Given the description of an element on the screen output the (x, y) to click on. 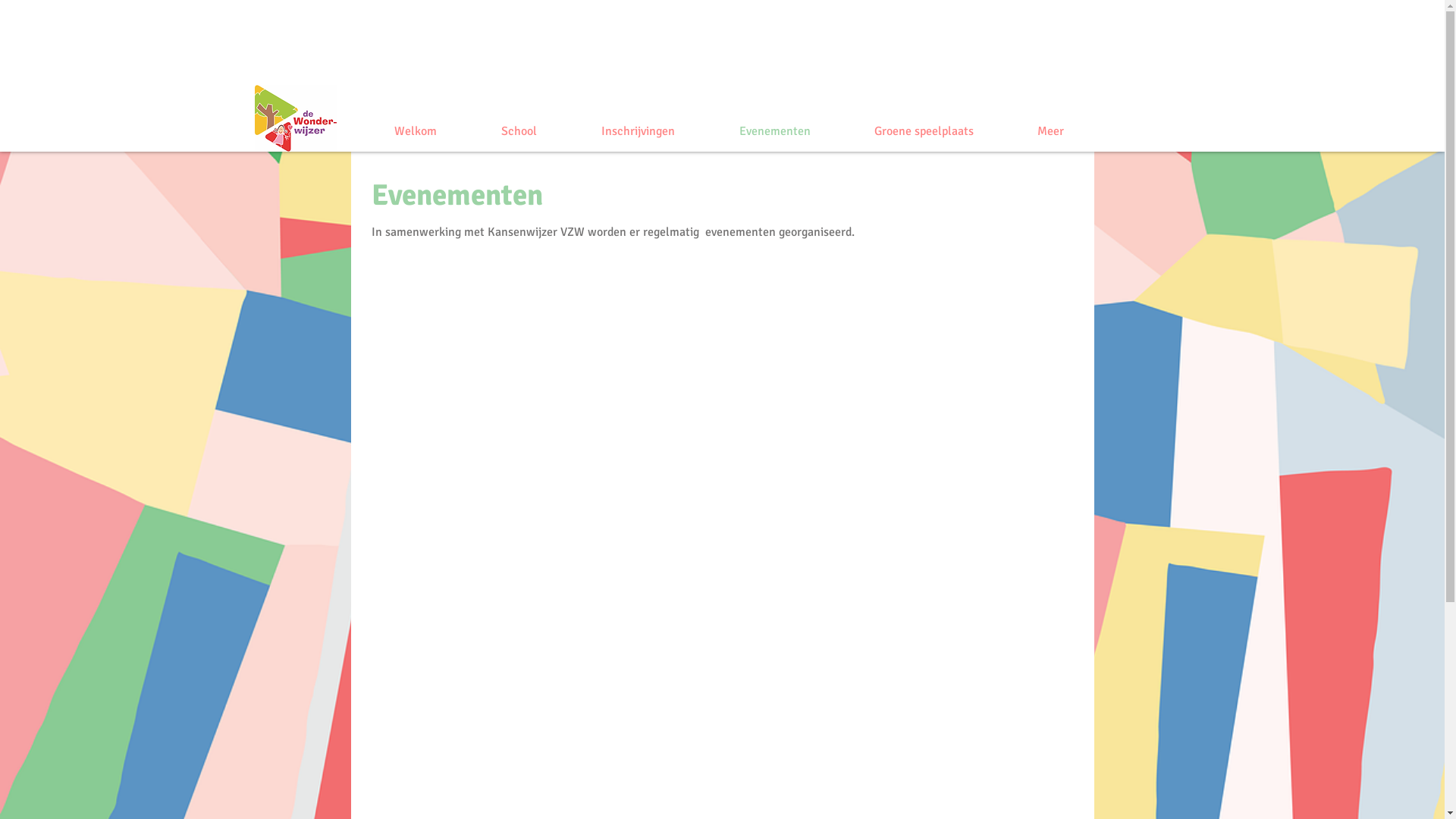
cropped-LOGO-WONDERWIJZER-NEW-met-streep Element type: hover (295, 117)
Welkom Element type: text (415, 131)
Evenementen Element type: text (774, 131)
Groene speelplaats Element type: text (922, 131)
Inschrijvingen Element type: text (637, 131)
